Given the description of an element on the screen output the (x, y) to click on. 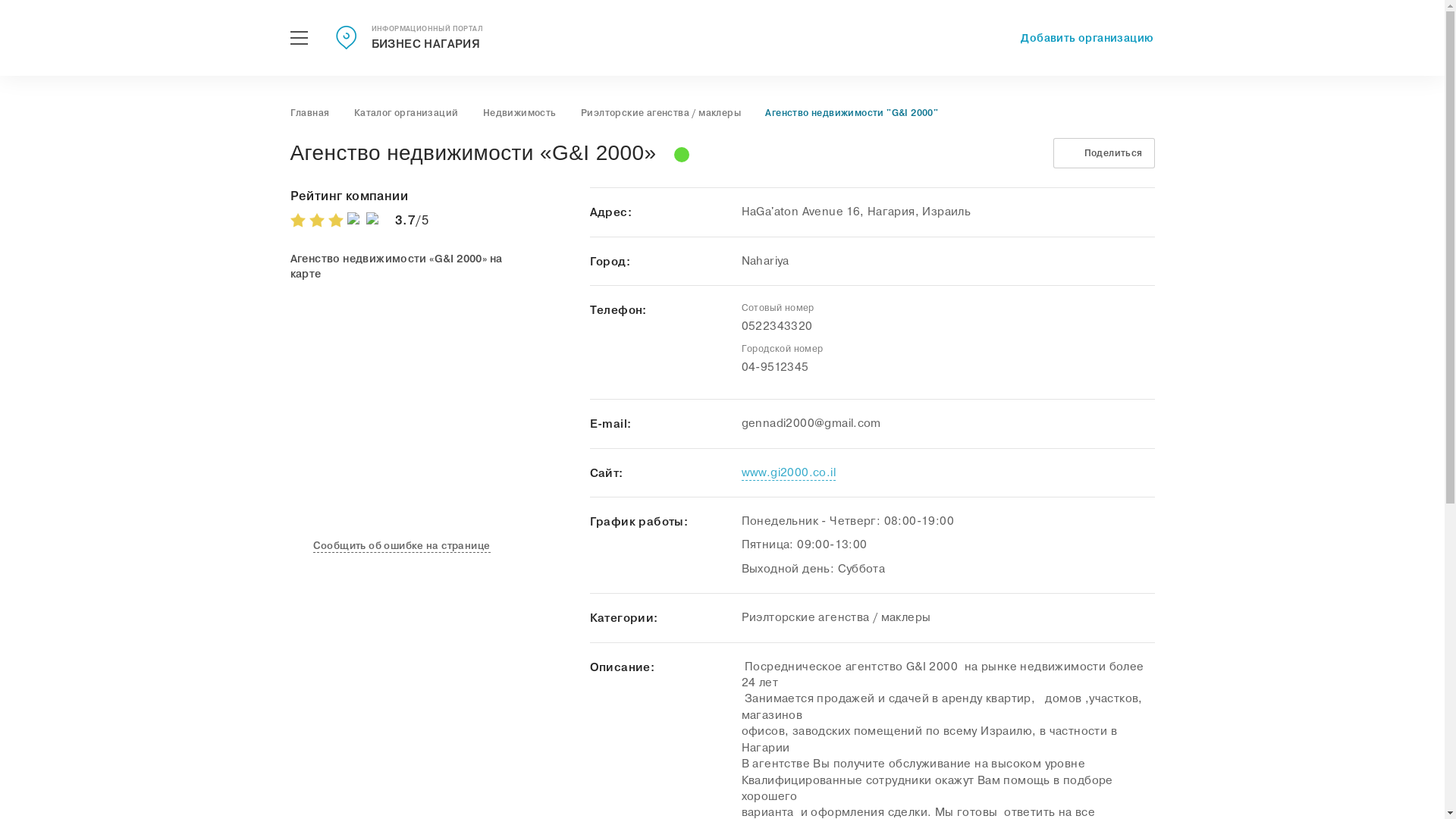
0522343320 Element type: text (776, 326)
04-9512345 Element type: text (775, 367)
gennadi2000@gmail.com Element type: text (811, 423)
www.gi2000.co.il Element type: text (788, 472)
